Given the description of an element on the screen output the (x, y) to click on. 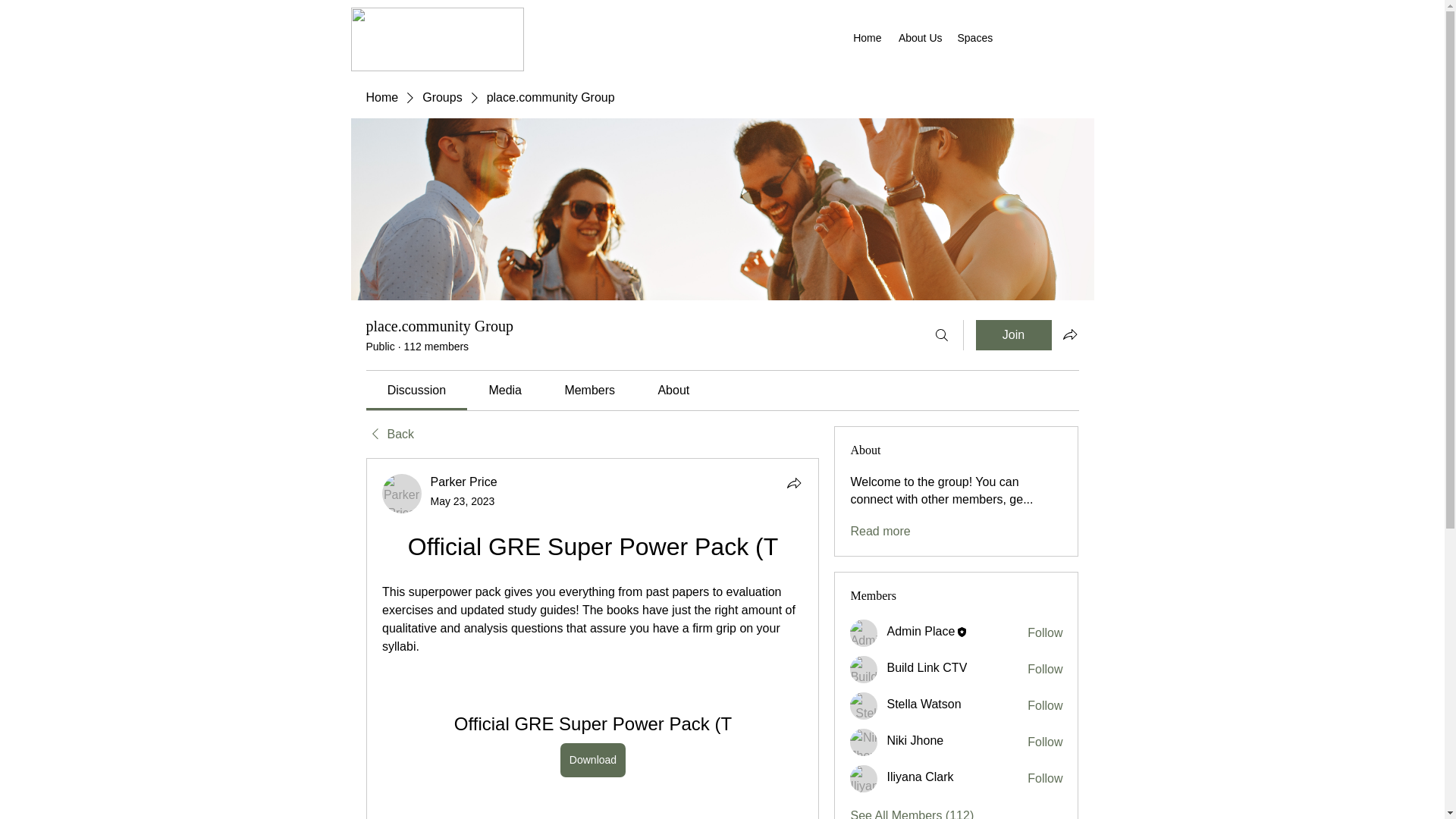
Follow (1044, 742)
Niki Jhone (914, 739)
Stella Watson (863, 705)
Iliyana Clark (863, 778)
PLACE logo w transparent bg.png (436, 39)
Join (1013, 335)
Read more (880, 531)
About Us (918, 37)
Iliyana Clark (919, 776)
Admin Place (863, 633)
Parker Price (463, 481)
May 23, 2023 (462, 500)
Groups (441, 97)
Back (389, 434)
Niki Jhone (863, 741)
